Given the description of an element on the screen output the (x, y) to click on. 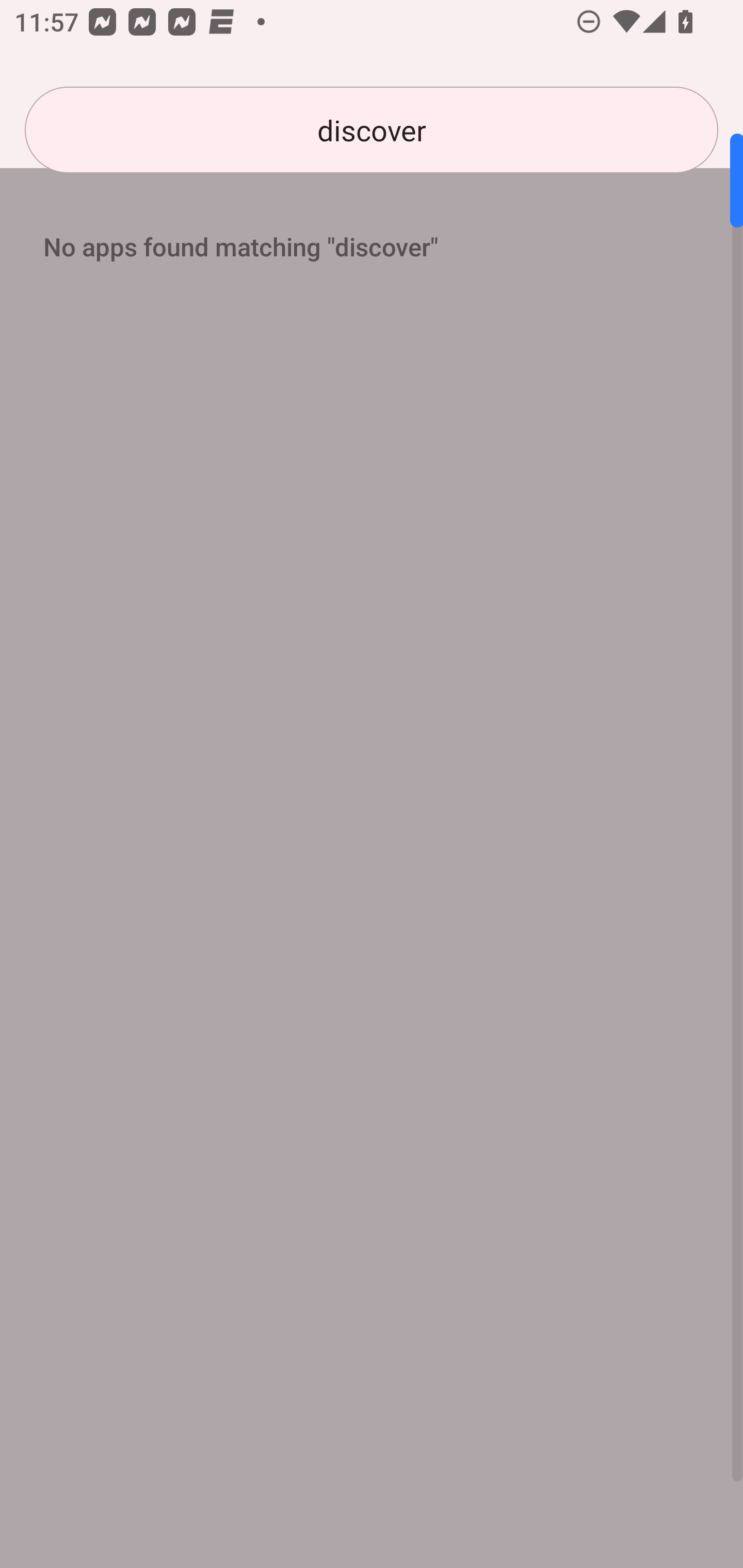
discover (371, 130)
